Given the description of an element on the screen output the (x, y) to click on. 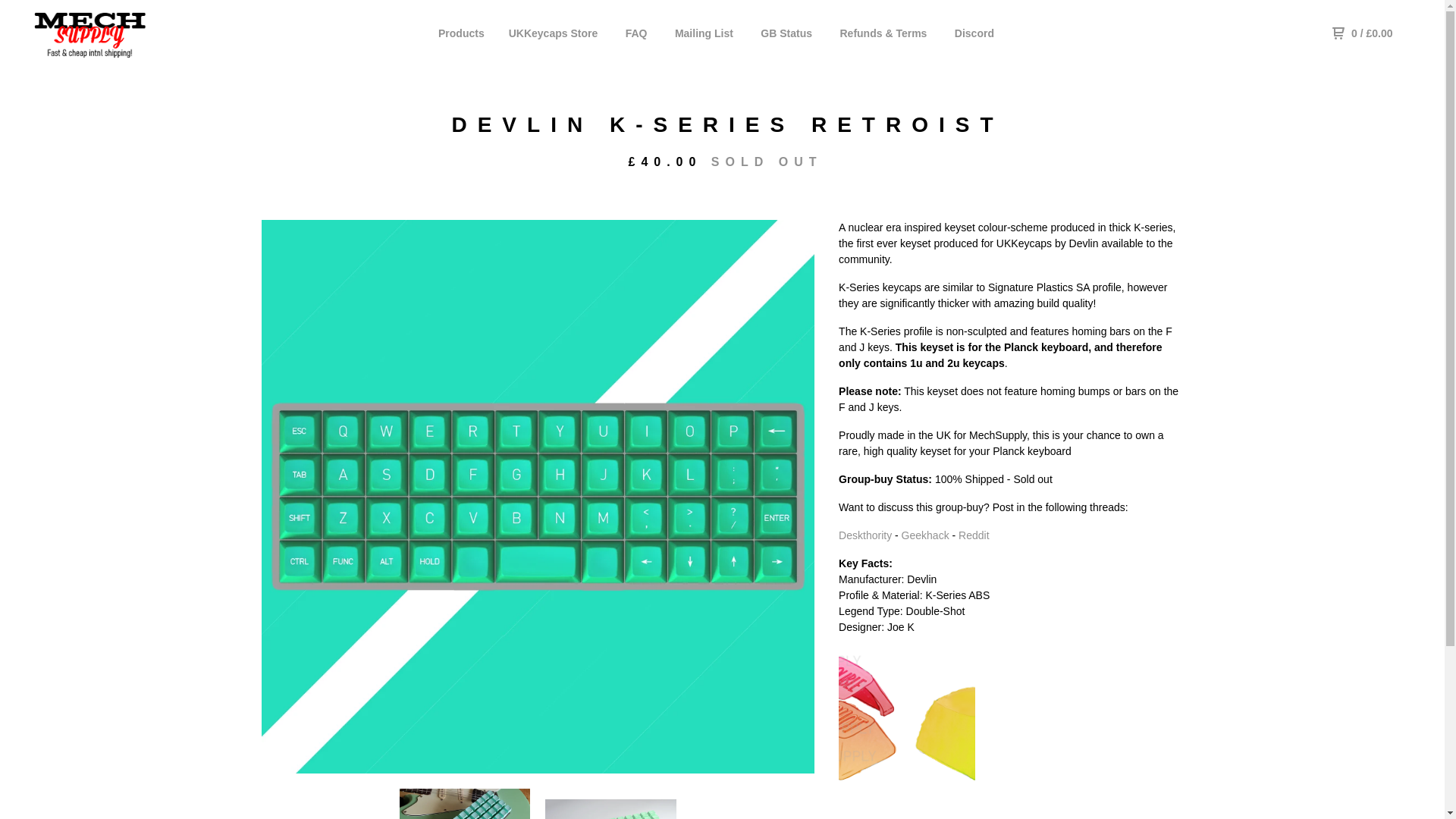
MechSupply (103, 33)
UKKeycaps Store (553, 33)
View Mailing List (704, 33)
FAQ (636, 33)
Mailing List (704, 33)
Geekhack (925, 535)
Products (461, 33)
View GB Status (786, 33)
Deskthority (864, 535)
Discord (974, 33)
View Discord (974, 33)
Reddit (973, 535)
Products (461, 33)
GB Status (786, 33)
View FAQ (636, 33)
